Given the description of an element on the screen output the (x, y) to click on. 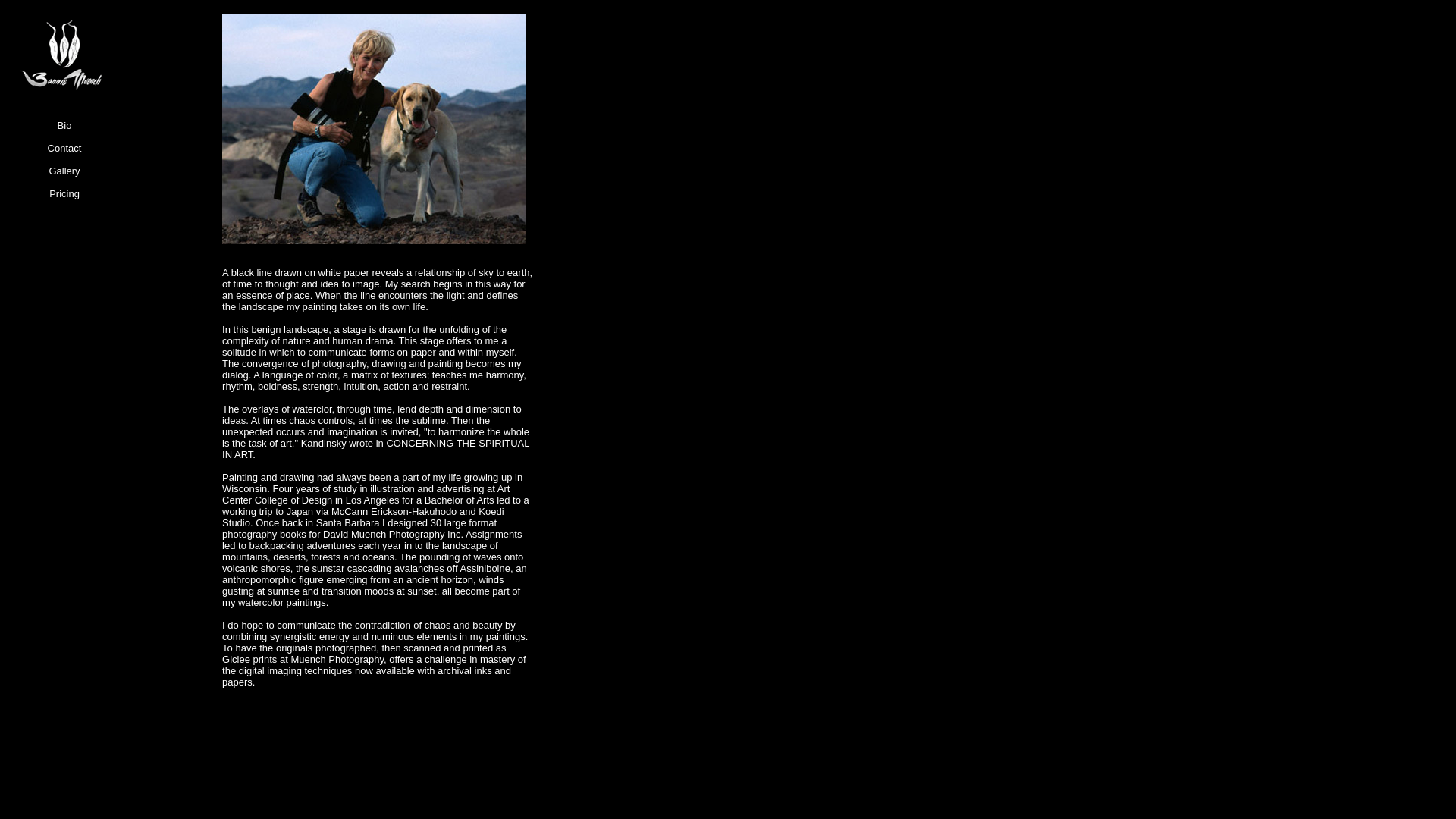
Pricing (64, 199)
Gallery (64, 176)
Contact (64, 153)
